Given the description of an element on the screen output the (x, y) to click on. 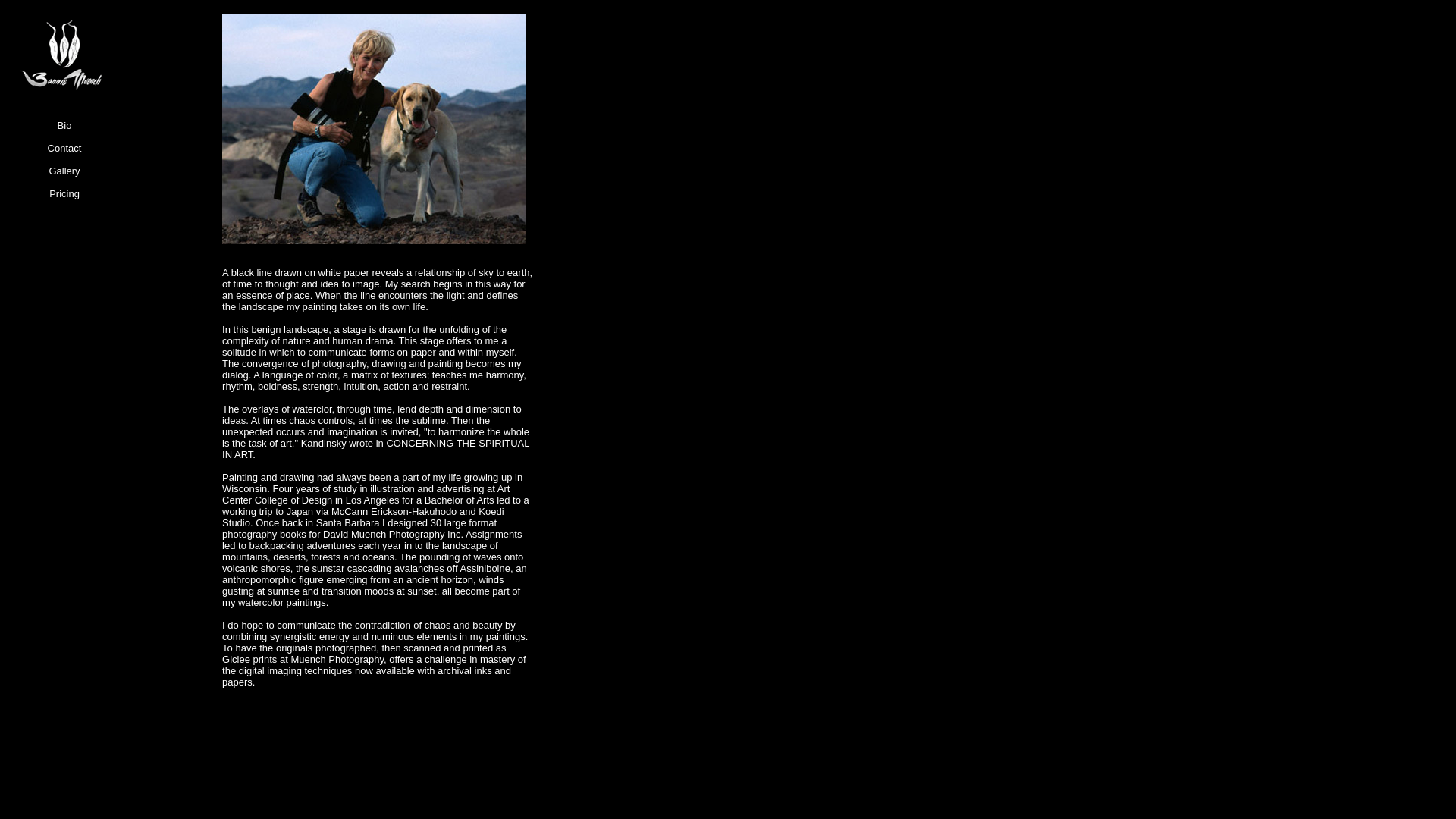
Pricing (64, 199)
Gallery (64, 176)
Contact (64, 153)
